Given the description of an element on the screen output the (x, y) to click on. 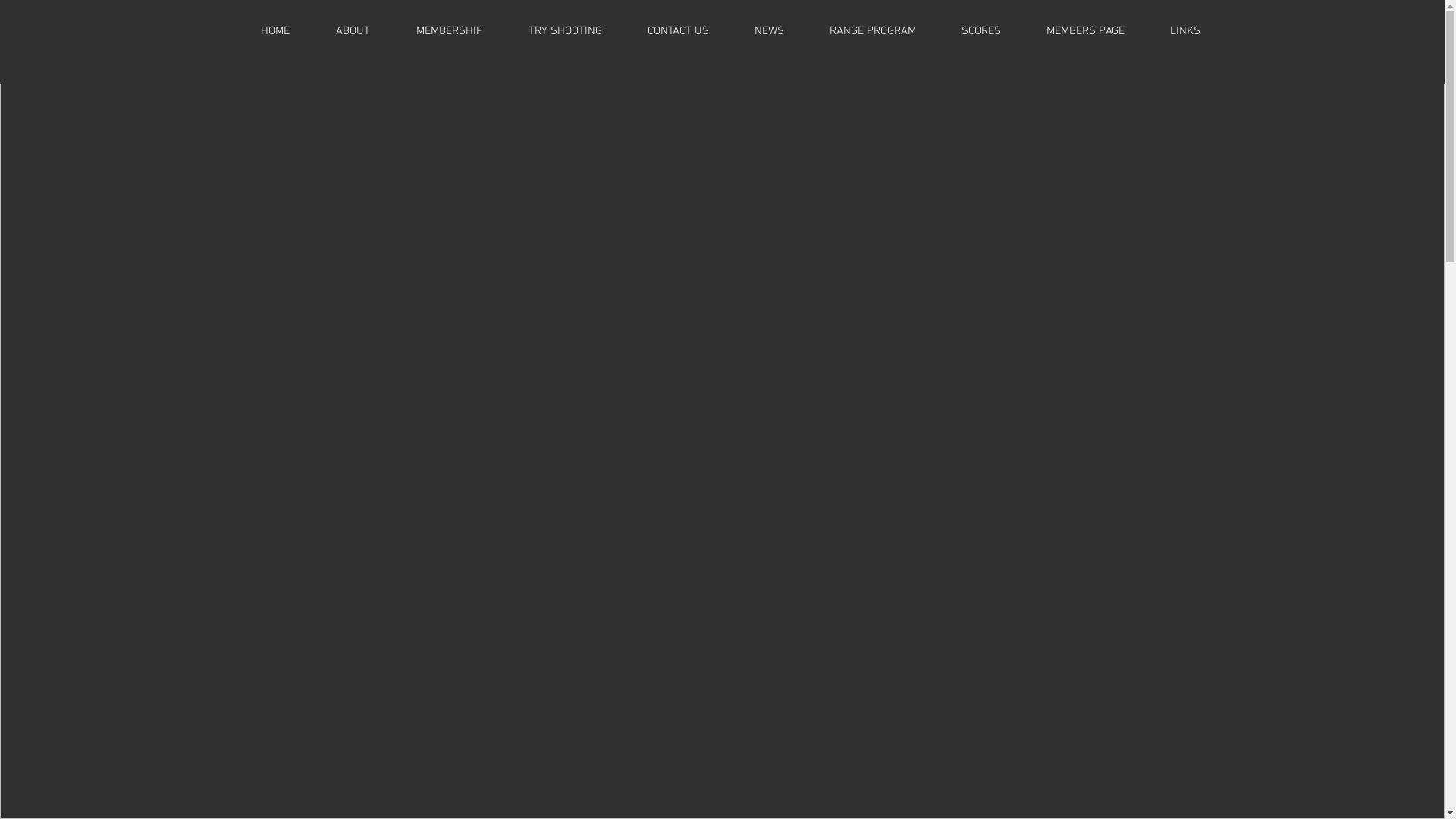
TRY SHOOTING Element type: text (564, 31)
NEWS Element type: text (768, 31)
MEMBERSHIP Element type: text (448, 31)
RANGE PROGRAM Element type: text (872, 31)
HOME Element type: text (275, 31)
MEMBERS PAGE Element type: text (1085, 31)
CONTACT US Element type: text (677, 31)
ABOUT Element type: text (352, 31)
LINKS Element type: text (1184, 31)
